Given the description of an element on the screen output the (x, y) to click on. 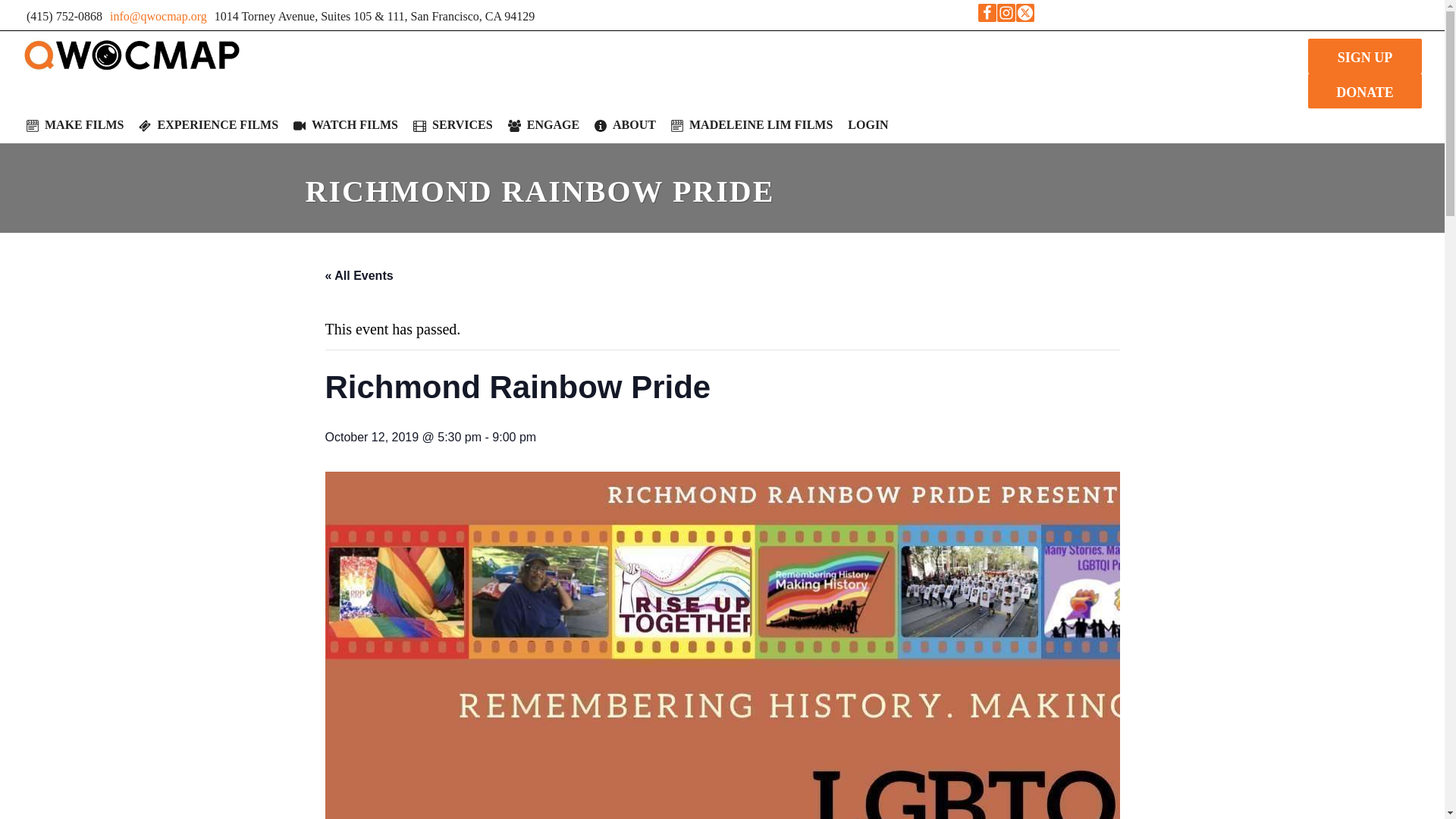
EXPERIENCE FILMS (208, 124)
MADELEINE LIM FILMS (751, 124)
SERVICES (453, 124)
Queer Women of Color Media Arts Project (132, 54)
WATCH FILMS (345, 124)
MAKE FILMS (74, 124)
MAKE FILMS (74, 124)
EXPERIENCE FILMS (208, 124)
DONATE (1364, 90)
ENGAGE (543, 124)
LOGIN (867, 124)
ENGAGE (543, 124)
WATCH FILMS (345, 124)
ABOUT (624, 124)
ABOUT (624, 124)
